Given the description of an element on the screen output the (x, y) to click on. 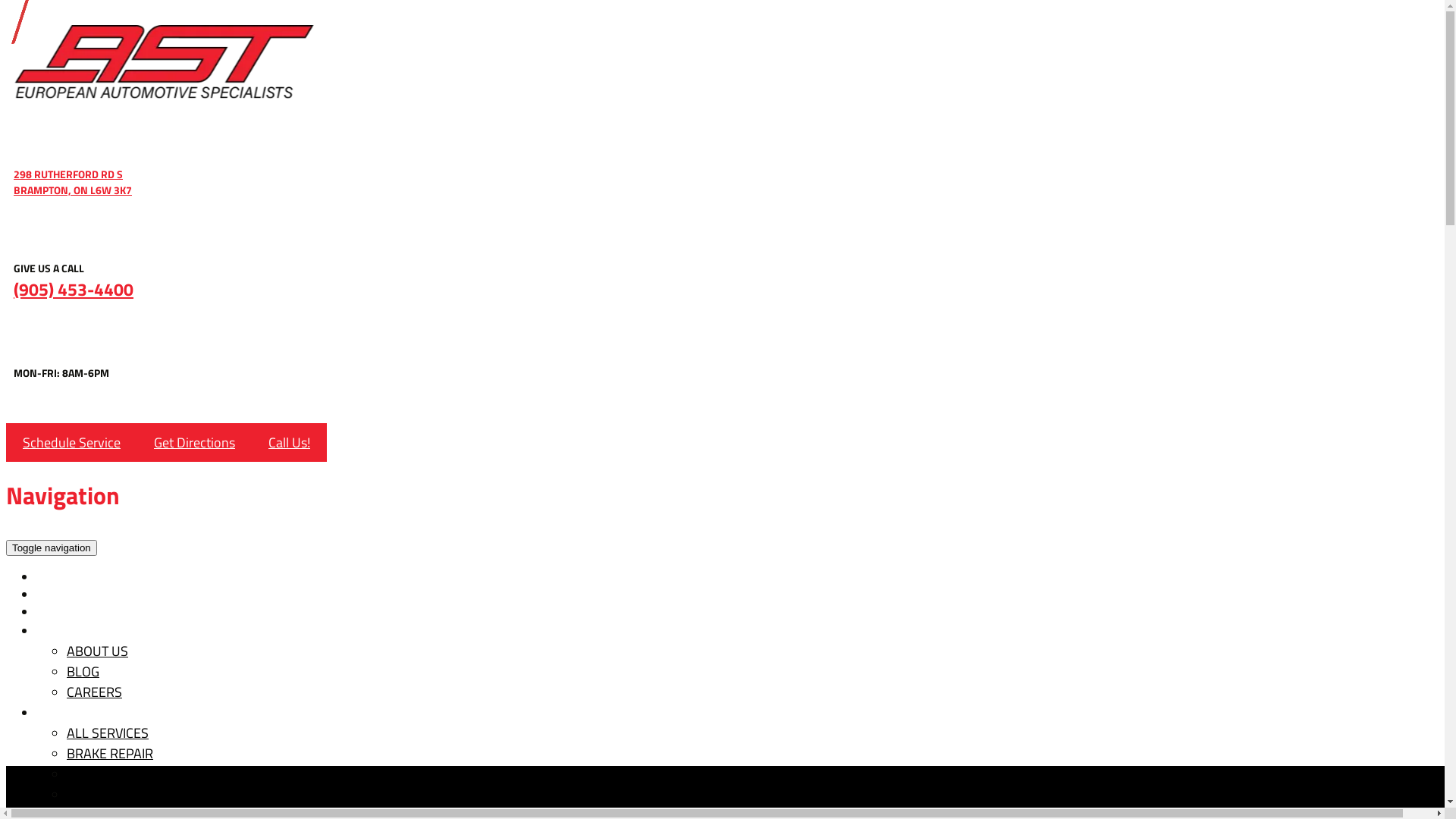
Get Directions Element type: text (194, 442)
BRAKE REPAIR Element type: text (109, 753)
Schedule Service Element type: text (71, 442)
ABOUT Element type: text (69, 630)
TRANSMISSION REPAIR Element type: text (134, 794)
ALL SERVICES Element type: text (107, 732)
CHECK ENGINE LIGHT Element type: text (128, 773)
(905) 453-4400 Element type: text (725, 289)
298 RUTHERFORD RD S
BRAMPTON, ON L6W 3K7 Element type: text (722, 181)
CAREERS Element type: text (94, 691)
Toggle navigation Element type: text (51, 547)
BLOG Element type: text (82, 671)
SERVICES Element type: text (77, 712)
Call Us! Element type: text (288, 442)
ABOUT US Element type: text (97, 650)
